Given the description of an element on the screen output the (x, y) to click on. 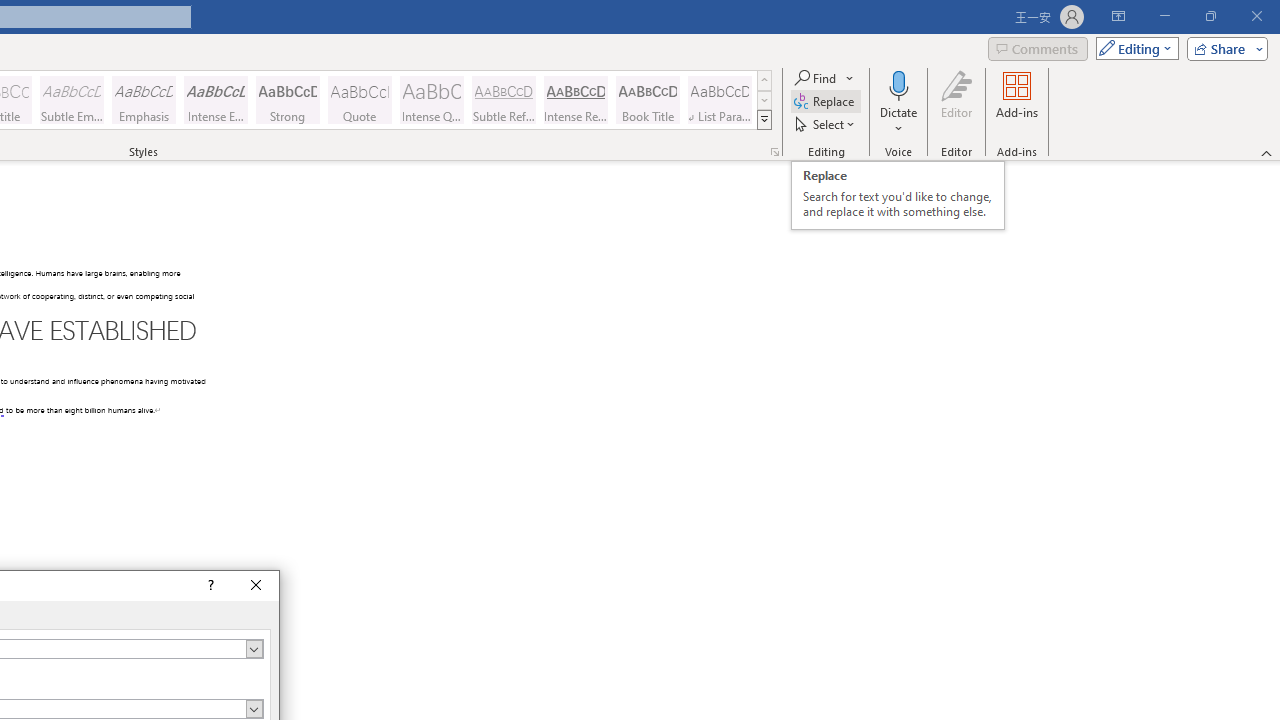
Subtle Emphasis (71, 100)
Intense Reference (575, 100)
Select (826, 124)
Strong (287, 100)
Context help (208, 585)
